Given the description of an element on the screen output the (x, y) to click on. 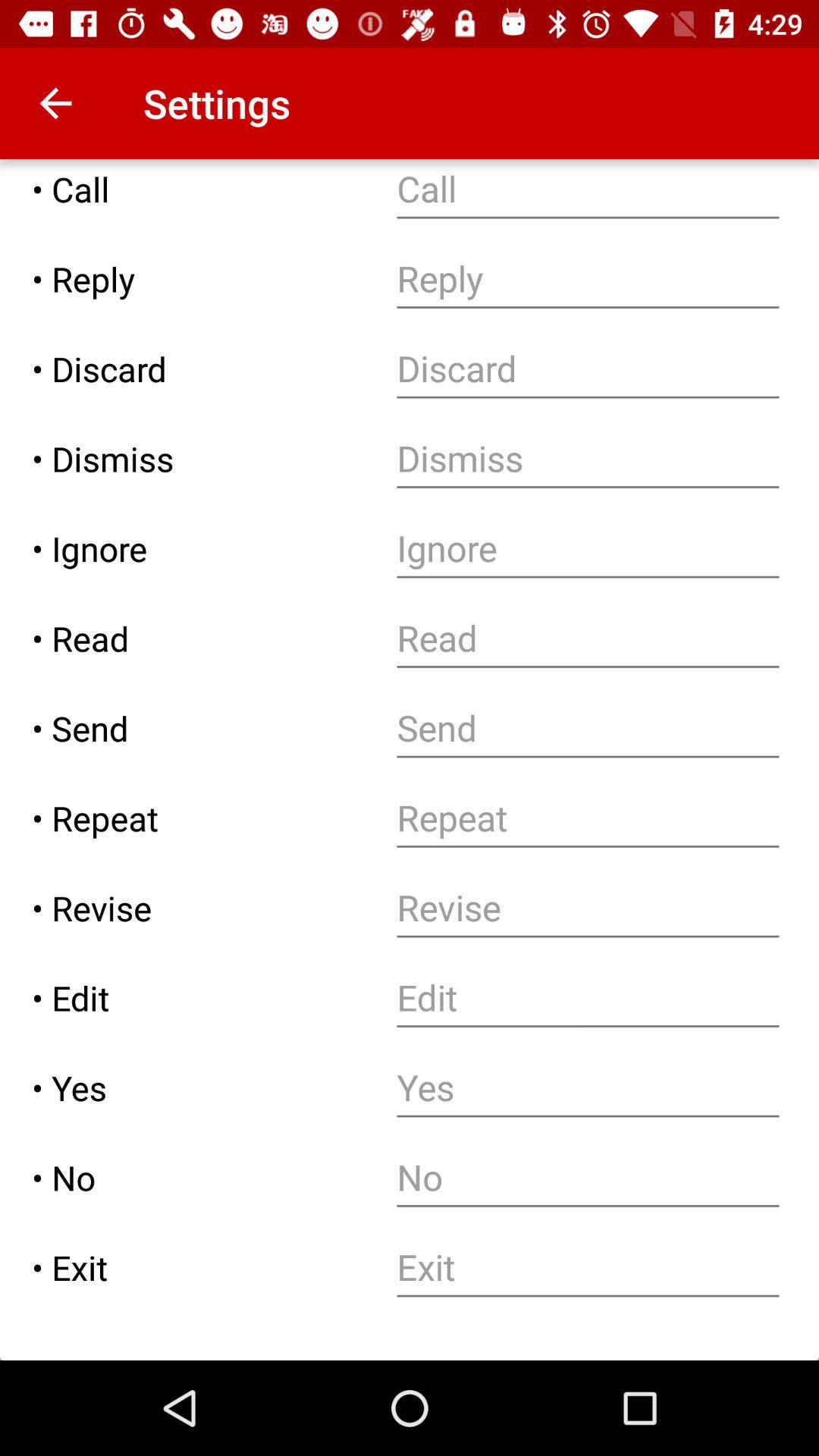
click the icon to the left of settings (55, 103)
